Given the description of an element on the screen output the (x, y) to click on. 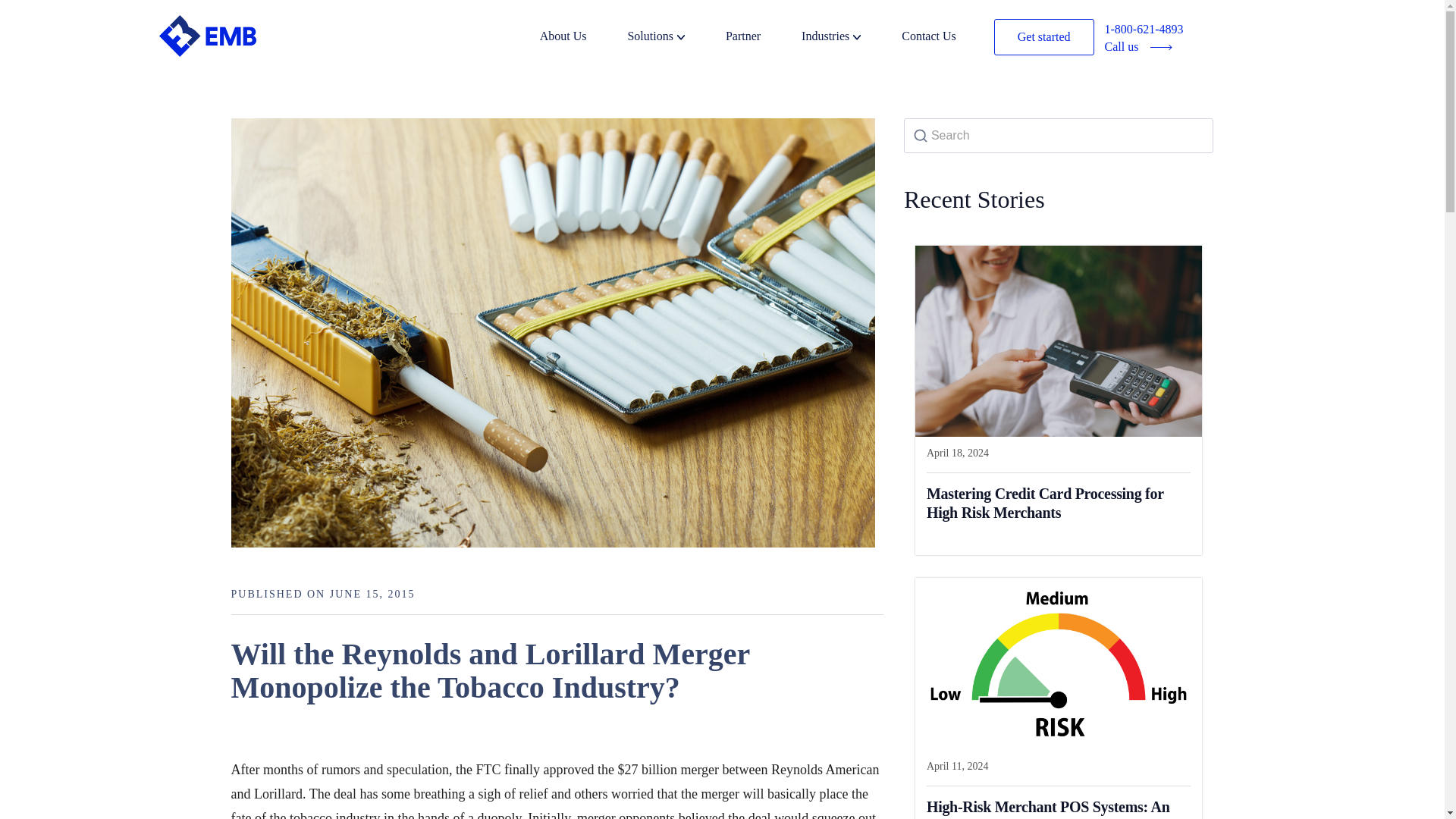
About Us (582, 37)
Industries (850, 37)
Solutions (674, 37)
Partner (761, 37)
